Given the description of an element on the screen output the (x, y) to click on. 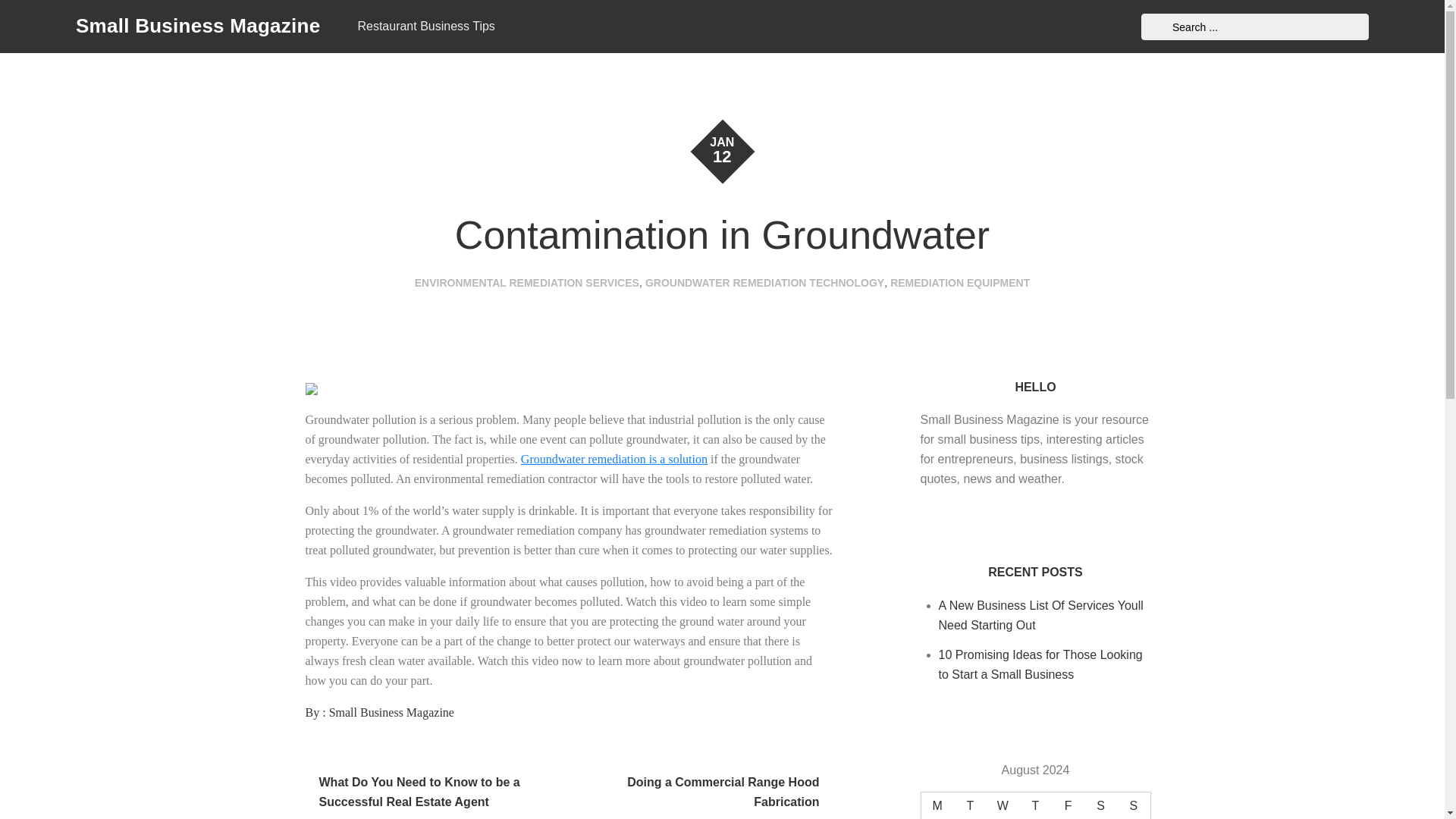
A New Business List Of Services Youll Need Starting Out (1040, 614)
Small Business Magazine (391, 712)
Tuesday (970, 805)
Search for: (1254, 26)
Search (1156, 26)
Sunday (1133, 805)
Wednesday (1003, 805)
GROUNDWATER REMEDIATION TECHNOLOGY (764, 282)
REMEDIATION EQUIPMENT (959, 282)
ENVIRONMENTAL REMEDIATION SERVICES (526, 282)
Friday (1067, 805)
Restaurant Business Tips (425, 26)
Small Business Magazine (197, 25)
